Given the description of an element on the screen output the (x, y) to click on. 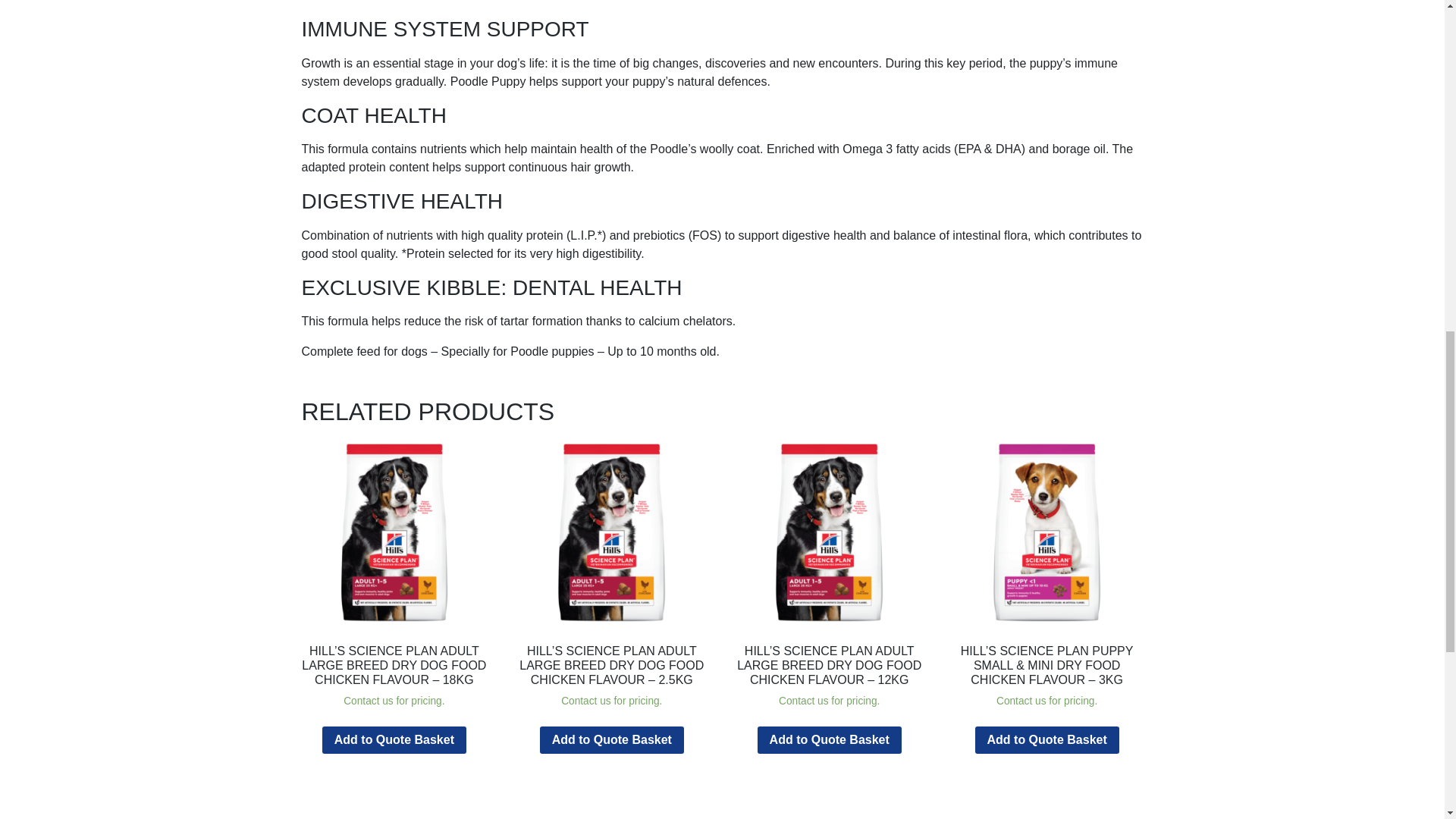
Add to Quote Basket (829, 739)
Add to Quote Basket (393, 739)
Add to Quote Basket (612, 739)
Add to Quote Basket (1047, 739)
